Given the description of an element on the screen output the (x, y) to click on. 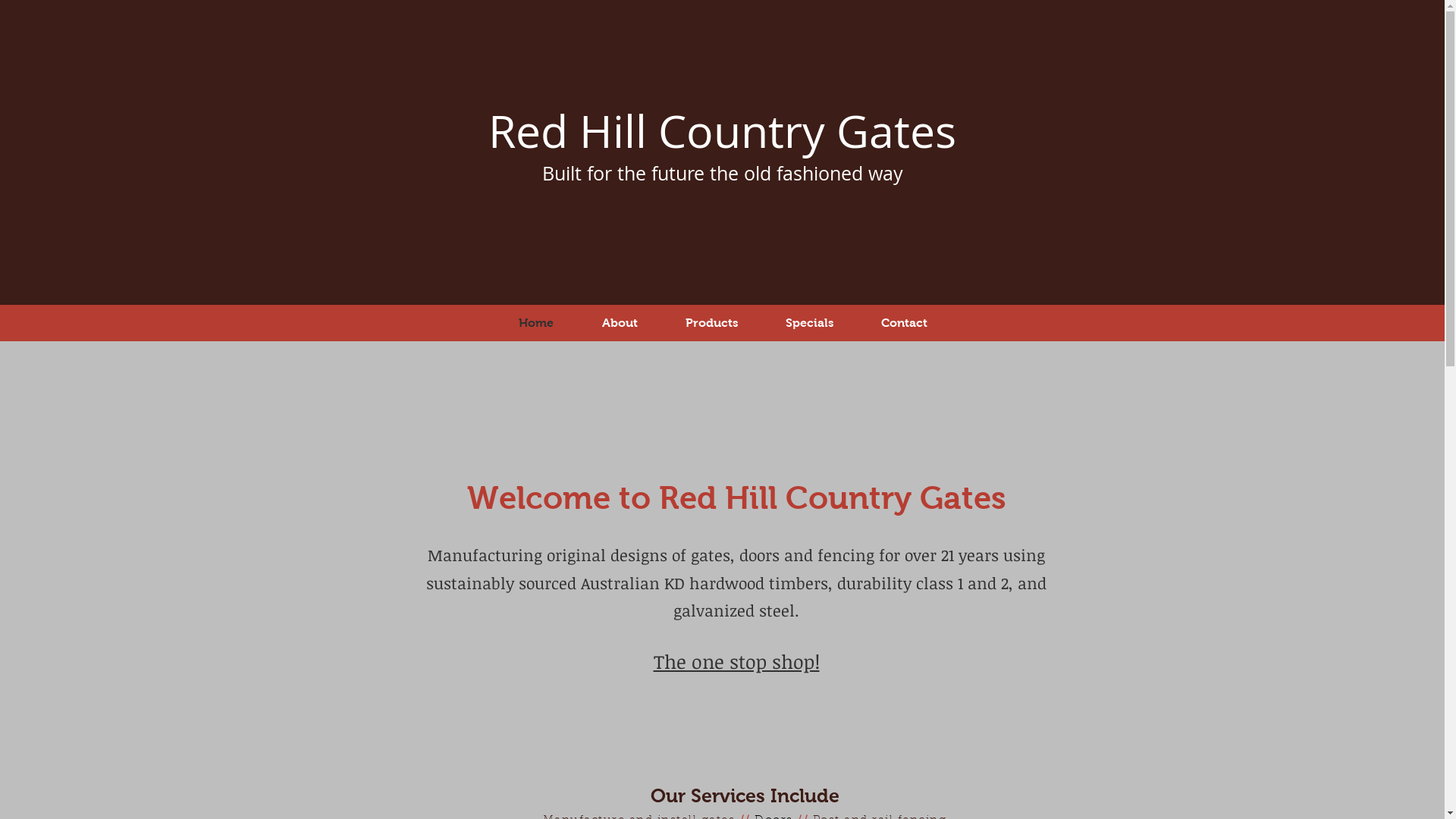
About Element type: text (619, 322)
Specials Element type: text (808, 322)
Contact Element type: text (903, 322)
Home Element type: text (535, 322)
Products Element type: text (711, 322)
